Given the description of an element on the screen output the (x, y) to click on. 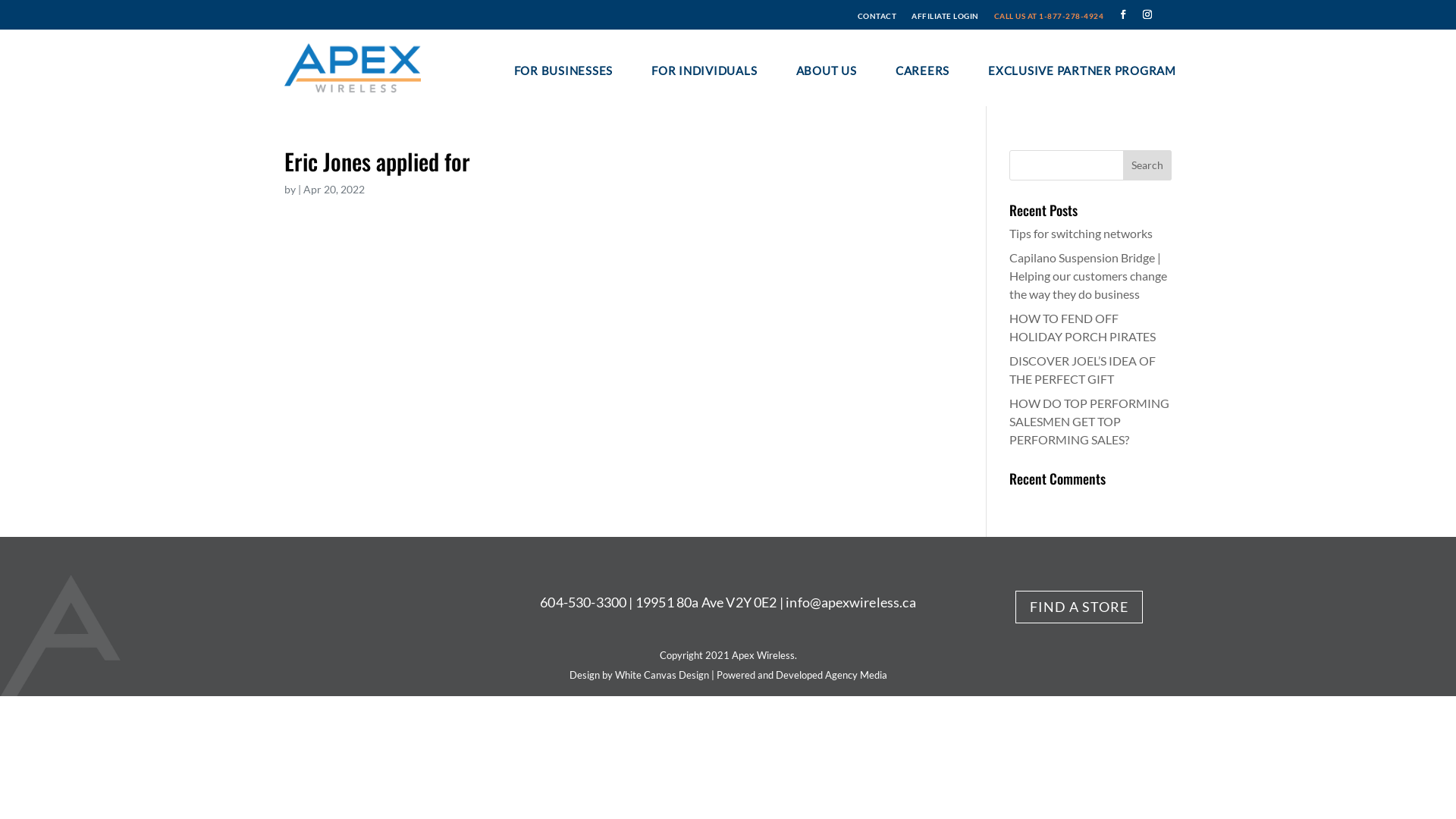
Design by White Canvas Design Element type: text (638, 674)
FOR BUSINESSES Element type: text (563, 70)
Follow on Instagram Element type: hover (1147, 14)
Tips for switching networks Element type: text (1080, 232)
CONTACT Element type: text (876, 12)
Follow on Facebook Element type: hover (1122, 14)
CAREERS Element type: text (922, 70)
CALL US AT 1-877-278-4924 Element type: text (1048, 12)
AFFILIATE LOGIN Element type: text (945, 12)
Powered and Developed Agency Media Element type: text (800, 674)
ABOUT US Element type: text (826, 70)
logo-apex Element type: hover (352, 67)
FIND A STORE Element type: text (1078, 606)
FOR INDIVIDUALS Element type: text (703, 70)
EXCLUSIVE PARTNER PROGRAM Element type: text (1082, 70)
Search Element type: text (1147, 165)
HOW DO TOP PERFORMING SALESMEN GET TOP PERFORMING SALES? Element type: text (1089, 420)
HOW TO FEND OFF HOLIDAY PORCH PIRATES Element type: text (1082, 326)
